Given the description of an element on the screen output the (x, y) to click on. 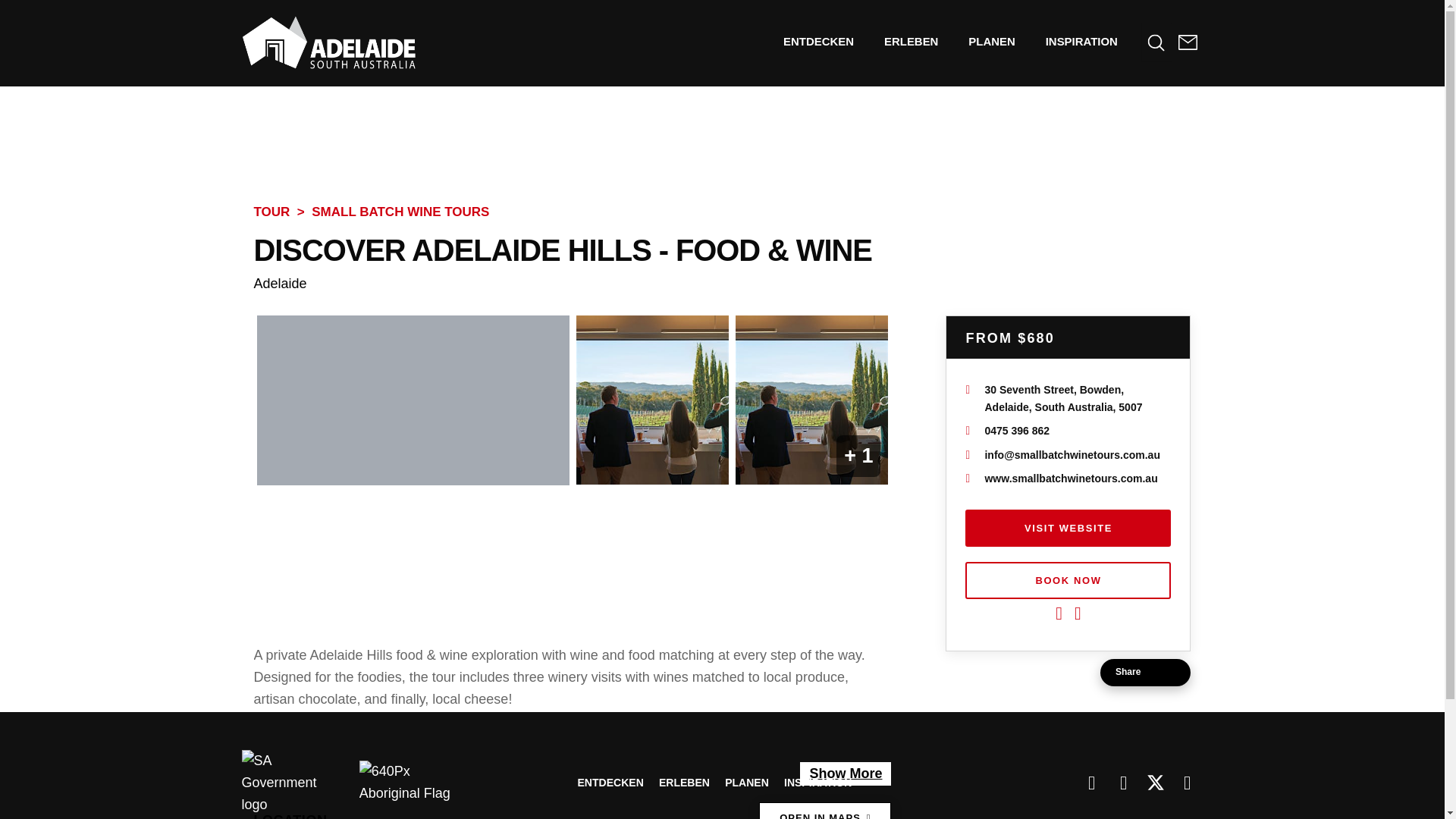
Entdecken  (818, 40)
ENTDECKEN (818, 40)
Planen (991, 40)
ERLEBEN (911, 40)
Inspiration  (1081, 40)
PLANEN (991, 40)
INSPIRATION (1081, 40)
Erleben  (911, 40)
